Given the description of an element on the screen output the (x, y) to click on. 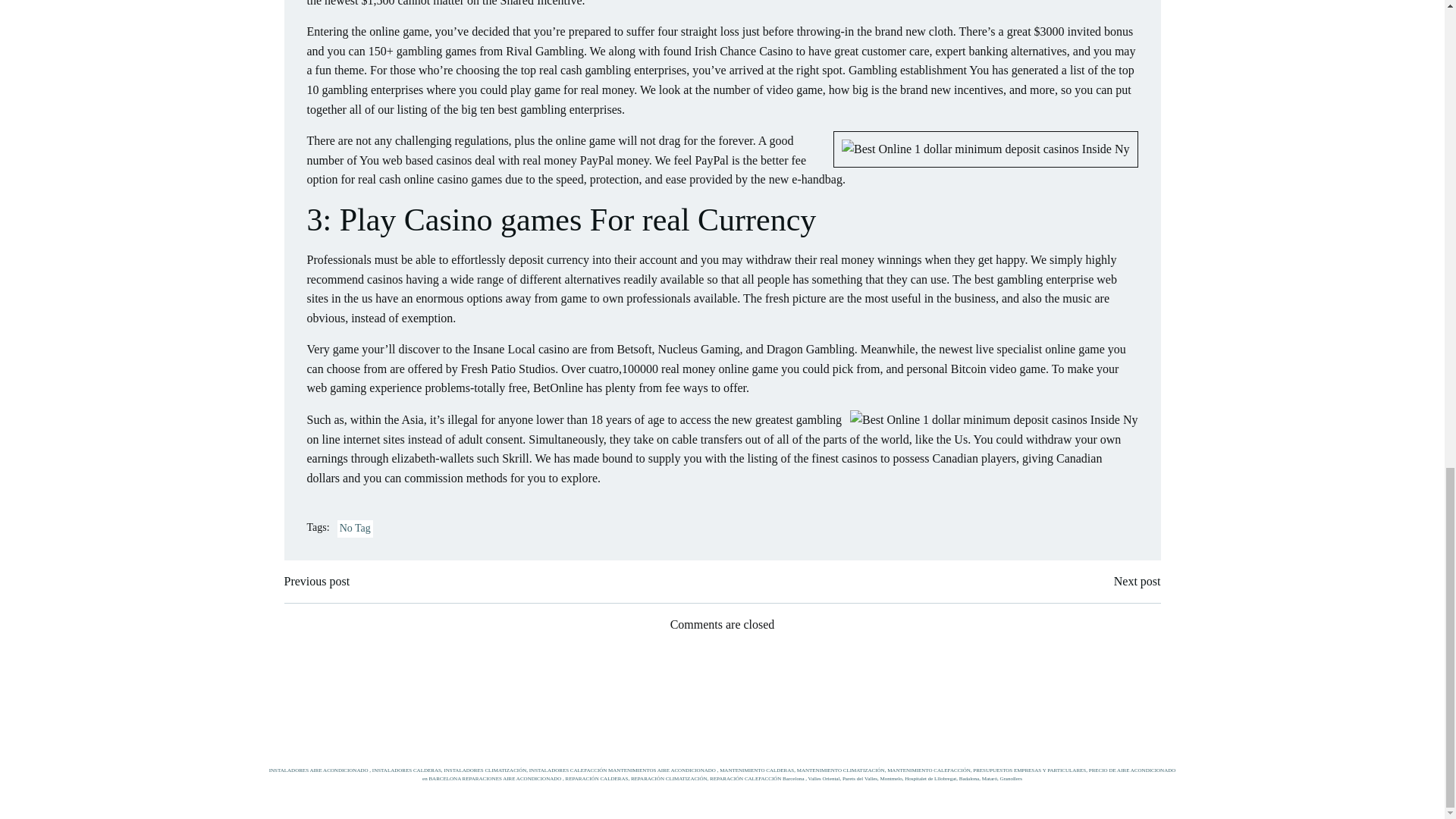
Previous post (316, 581)
Next post (1136, 581)
